Given the description of an element on the screen output the (x, y) to click on. 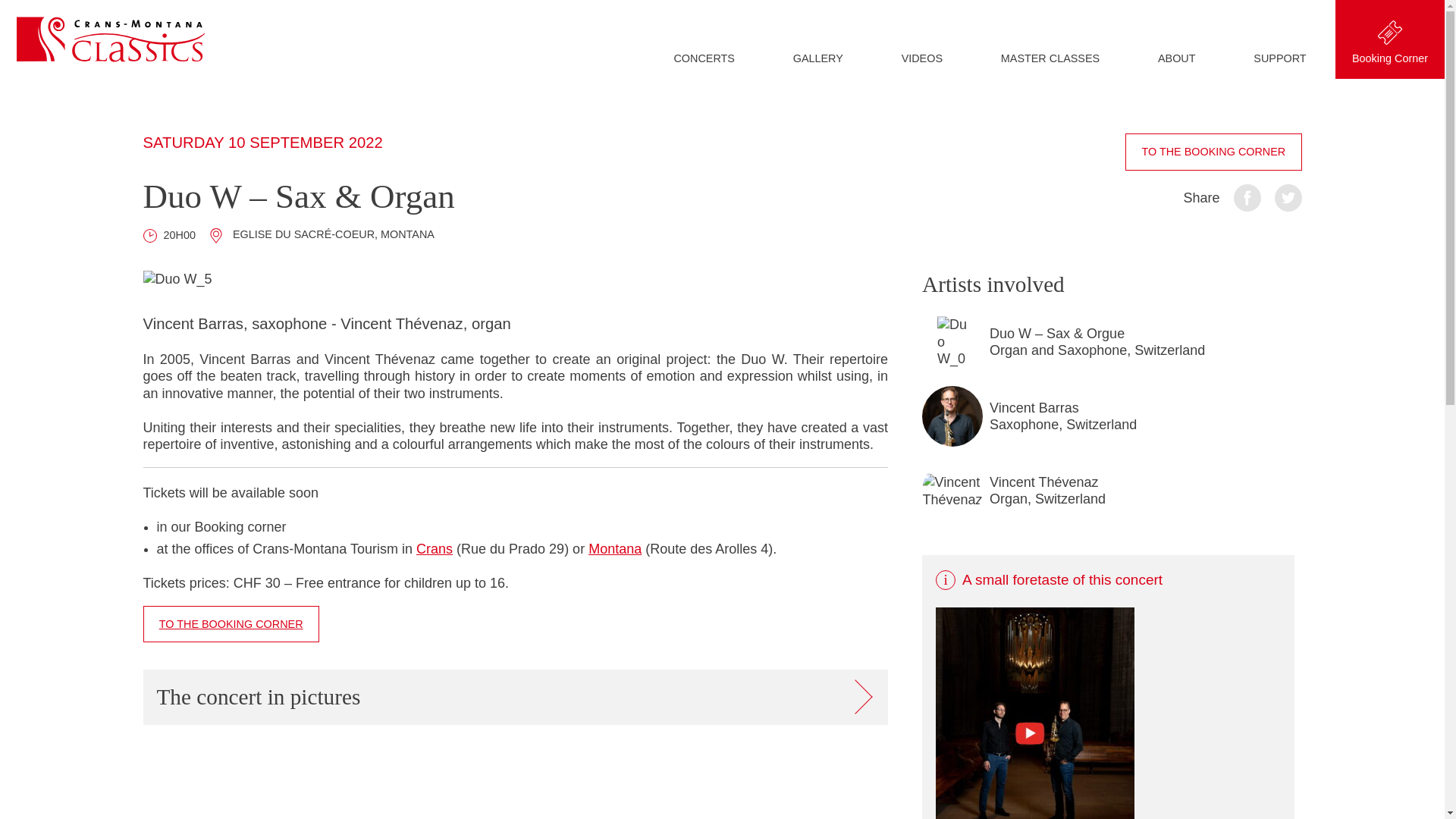
GALLERY (817, 57)
Montana (615, 548)
MASTER CLASSES (1049, 57)
CONCERTS (703, 57)
TO THE BOOKING CORNER (1213, 151)
SUPPORT (1279, 57)
ABOUT (1176, 57)
Crans (434, 548)
TO THE BOOKING CORNER (230, 624)
VIDEOS (921, 57)
